Given the description of an element on the screen output the (x, y) to click on. 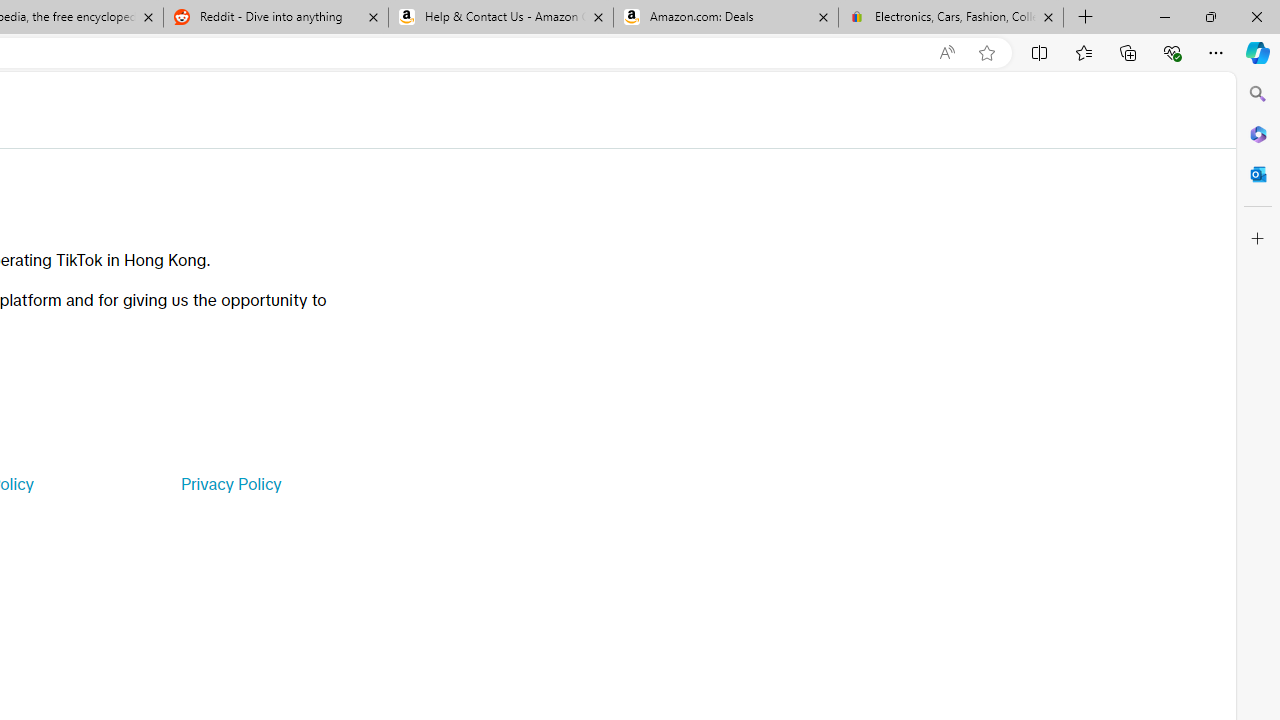
Amazon.com: Deals (726, 17)
